Given the description of an element on the screen output the (x, y) to click on. 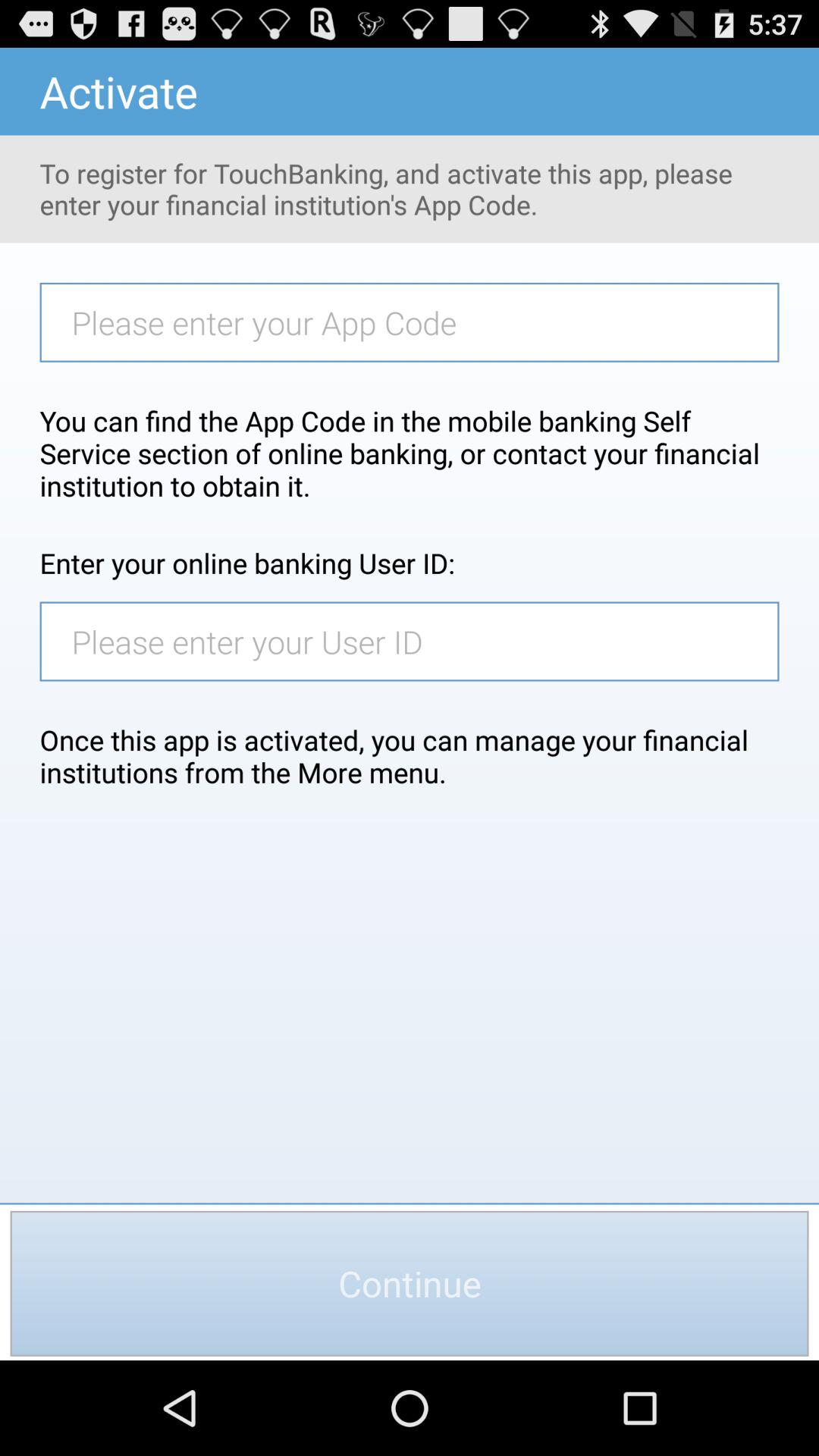
launch item below to register for item (417, 322)
